Given the description of an element on the screen output the (x, y) to click on. 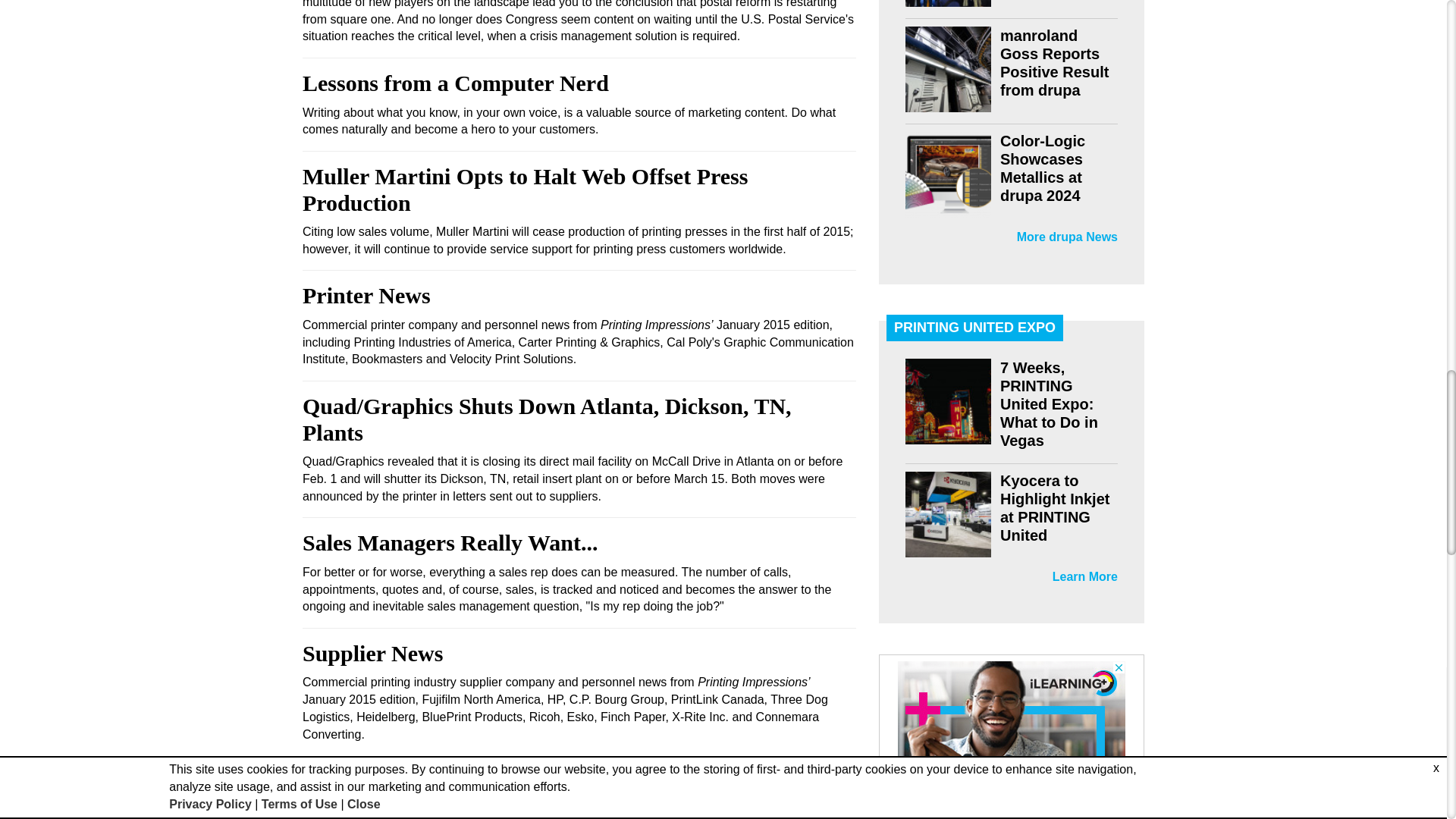
3rd party ad content (1011, 739)
